Given the description of an element on the screen output the (x, y) to click on. 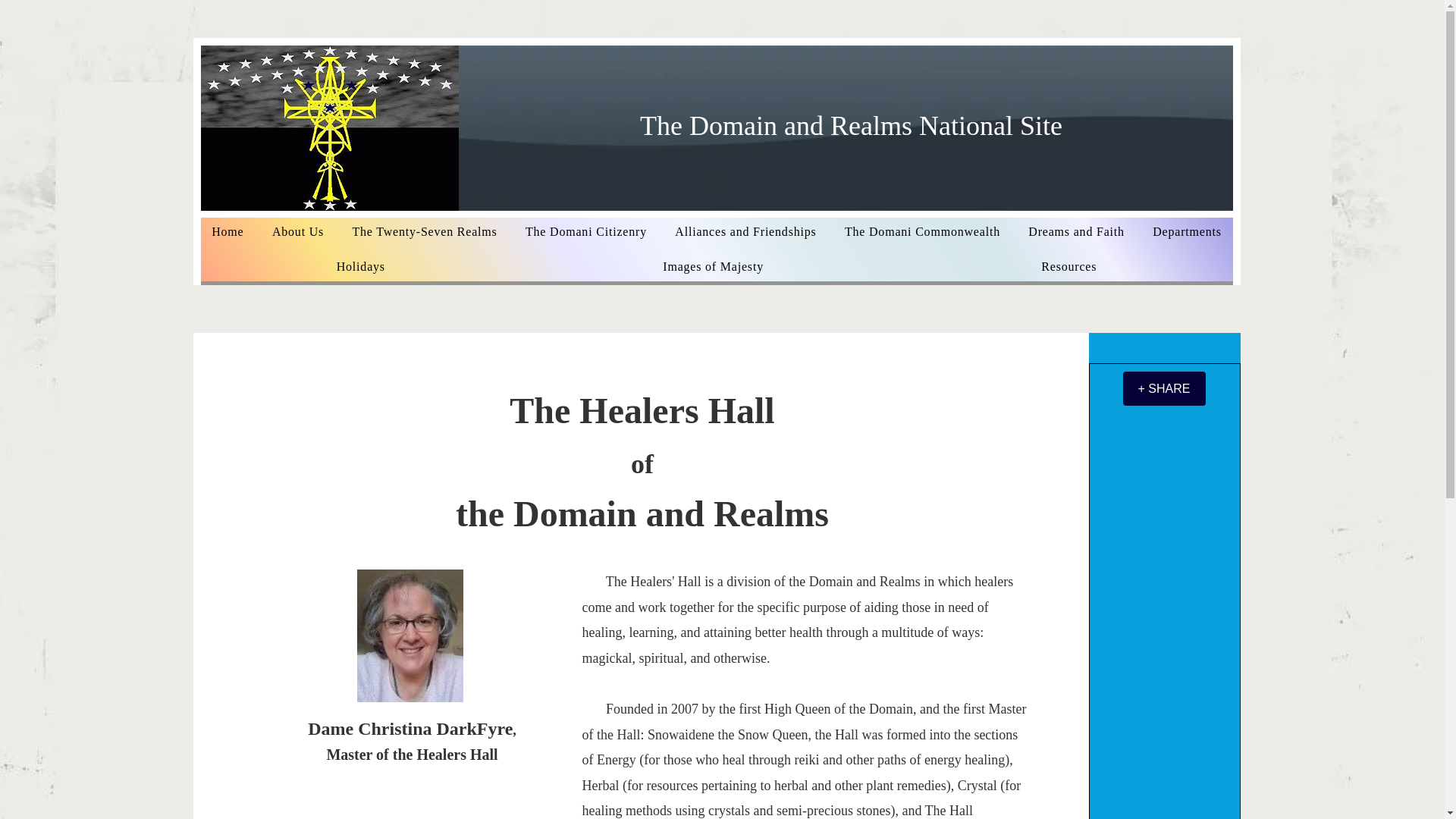
The Domani Citizenry (585, 231)
About Us (297, 231)
Home (227, 231)
Embedded Content (1121, 463)
The Twenty-Seven Realms (424, 231)
Alliances and Friendships (745, 231)
